Given the description of an element on the screen output the (x, y) to click on. 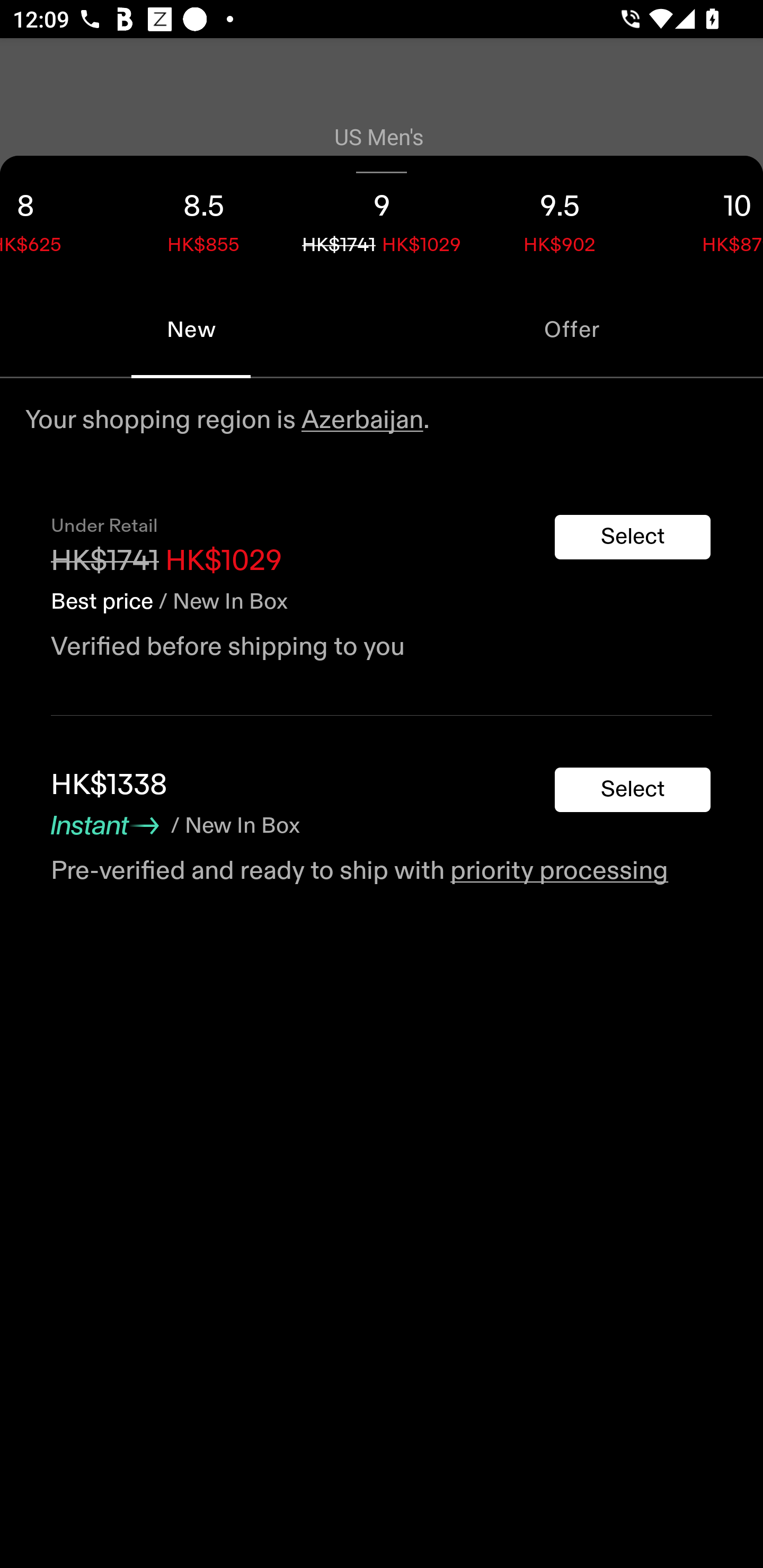
8 HK$625 (57, 218)
8.5 HK$855 (203, 218)
9 HK$1741 HK$1029 (381, 218)
9.5 HK$902 (559, 218)
10 HK$879 (705, 218)
Offer (572, 329)
Select (632, 536)
HK$1338 (109, 785)
Select (632, 789)
